Given the description of an element on the screen output the (x, y) to click on. 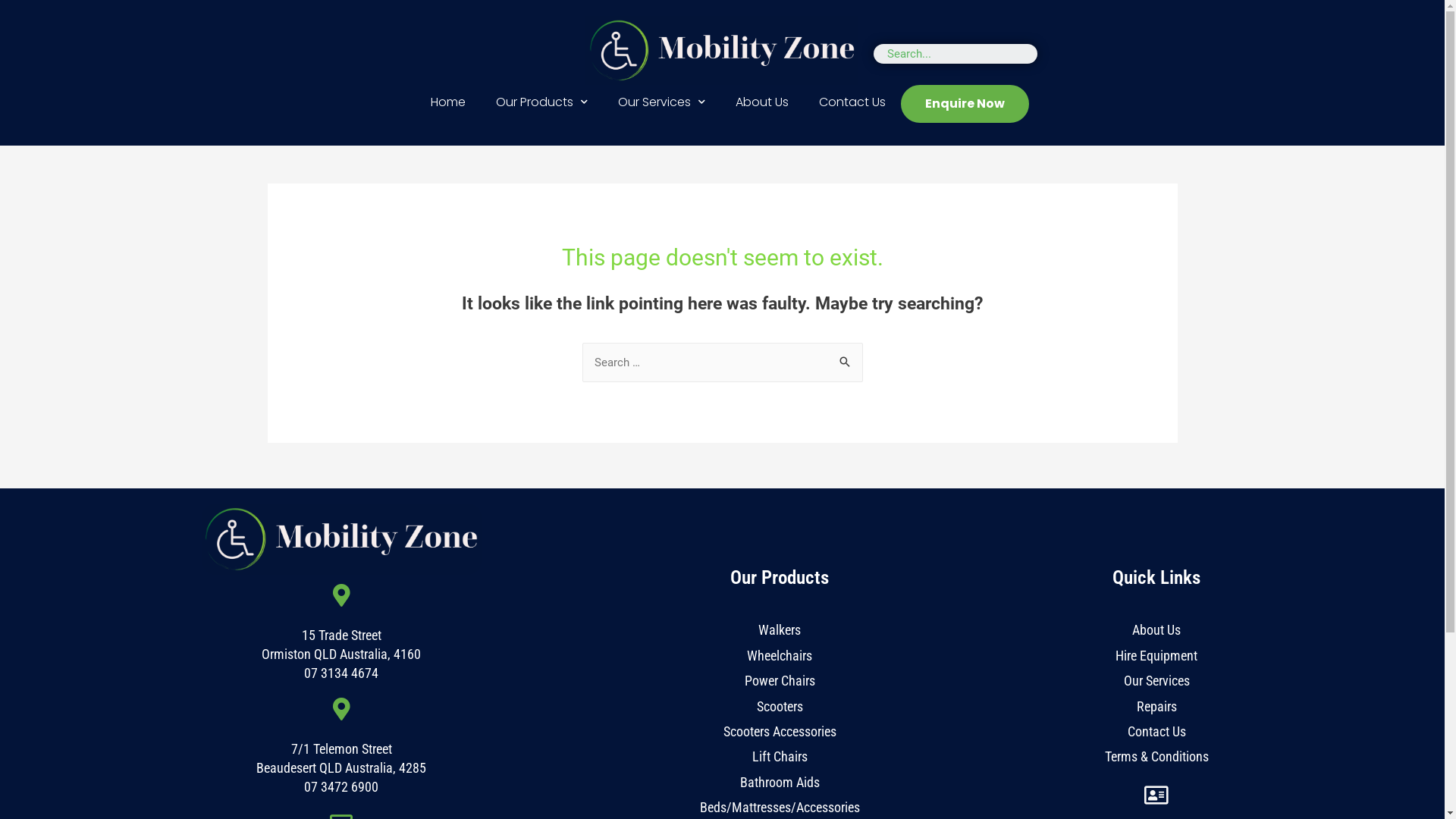
Search Element type: text (845, 357)
Search Element type: hover (958, 53)
Power Chairs Element type: text (779, 680)
Enquire Now Element type: text (964, 103)
Contact Us Element type: text (1156, 731)
Bathroom Aids Element type: text (779, 782)
About Us Element type: text (761, 101)
Home Element type: text (447, 101)
Scooters Element type: text (779, 706)
Scooters Accessories Element type: text (779, 731)
Repairs Element type: text (1156, 706)
About Us Element type: text (1156, 629)
Terms & Conditions Element type: text (1156, 756)
Walkers Element type: text (779, 629)
Lift Chairs Element type: text (779, 756)
15 Trade Street
Ormiston QLD Australia, 4160
07 3134 4674 Element type: text (340, 653)
Hire Equipment Element type: text (1156, 655)
Our Services Element type: text (661, 101)
Wheelchairs Element type: text (779, 655)
Our Products Element type: text (541, 101)
Our Services Element type: text (1156, 680)
Beds/Mattresses/Accessories Element type: text (779, 807)
Contact Us Element type: text (851, 101)
